Given the description of an element on the screen output the (x, y) to click on. 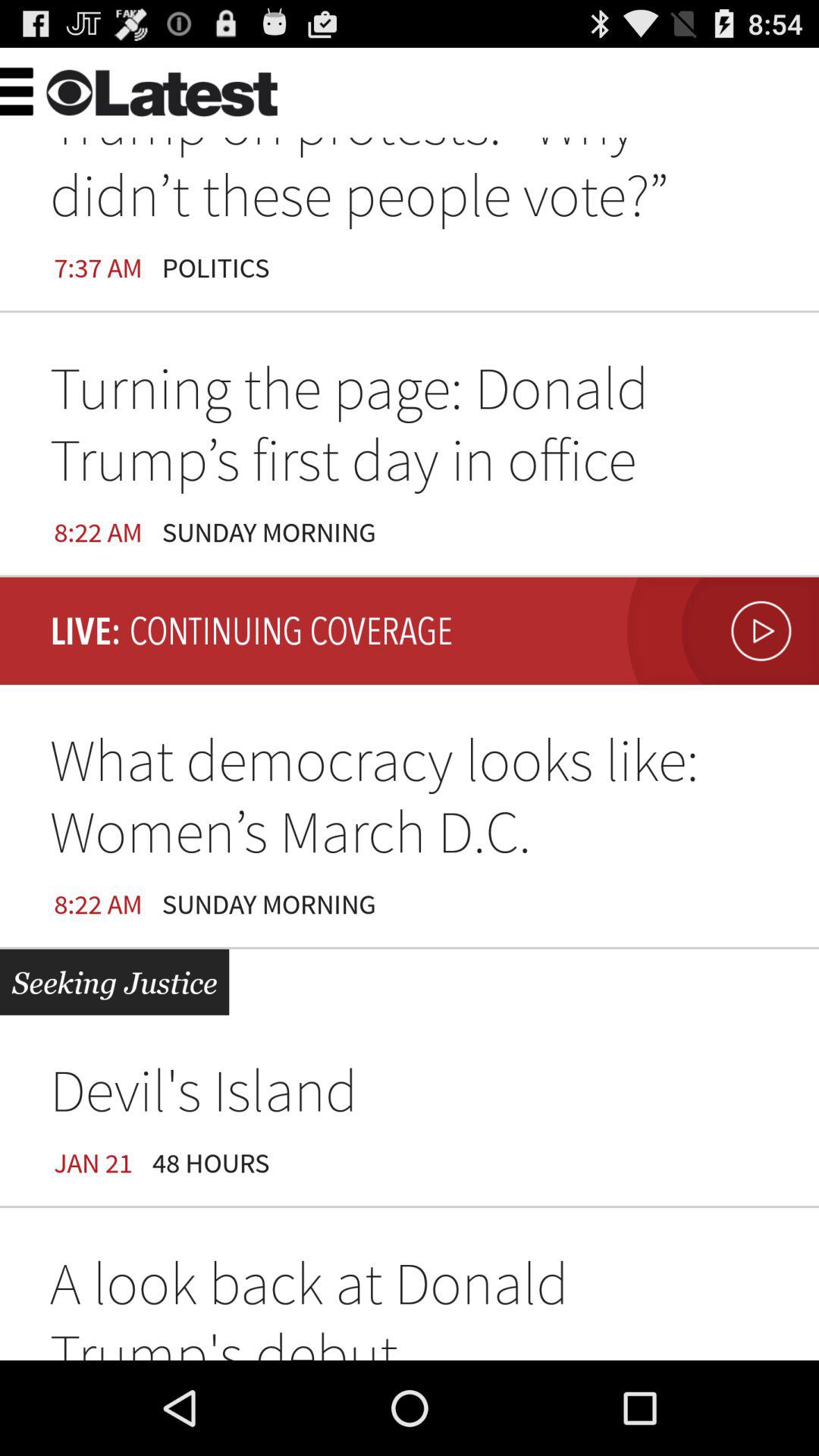
menu (49, 89)
